Given the description of an element on the screen output the (x, y) to click on. 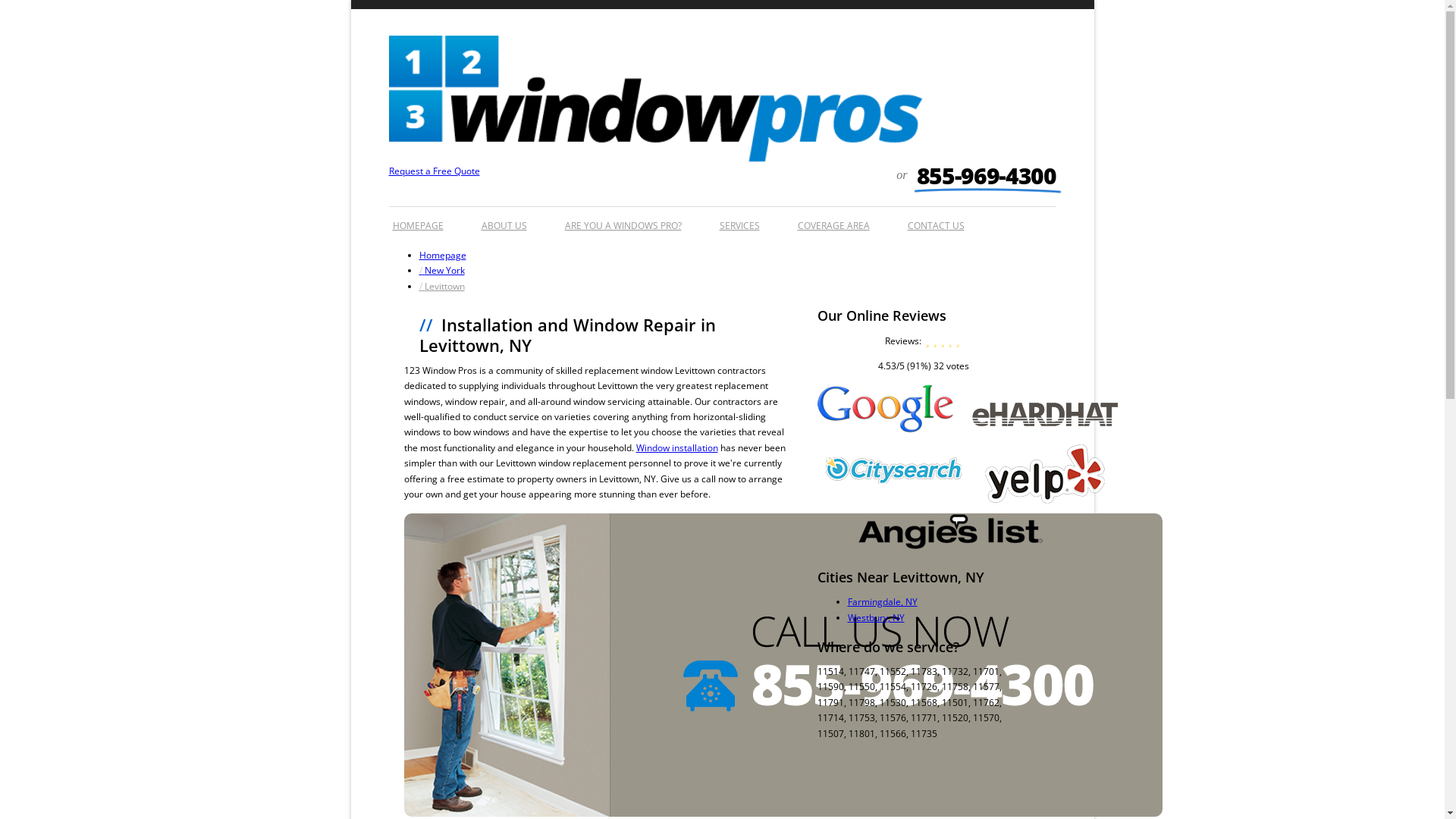
Levittown Element type: text (441, 285)
New York Element type: text (441, 269)
Homepage Element type: text (441, 254)
123 Window Pros Element type: hover (655, 155)
SERVICES Element type: text (739, 221)
CONTACT US Element type: text (935, 221)
Westbury, NY Element type: text (875, 617)
Request a Free Quote Element type: text (433, 170)
COVERAGE AREA Element type: text (832, 221)
Window installation Element type: text (676, 447)
ARE YOU A WINDOWS PRO? Element type: text (623, 221)
ABOUT US Element type: text (503, 221)
HOMEPAGE Element type: text (417, 221)
Farmingdale, NY Element type: text (882, 601)
